Given the description of an element on the screen output the (x, y) to click on. 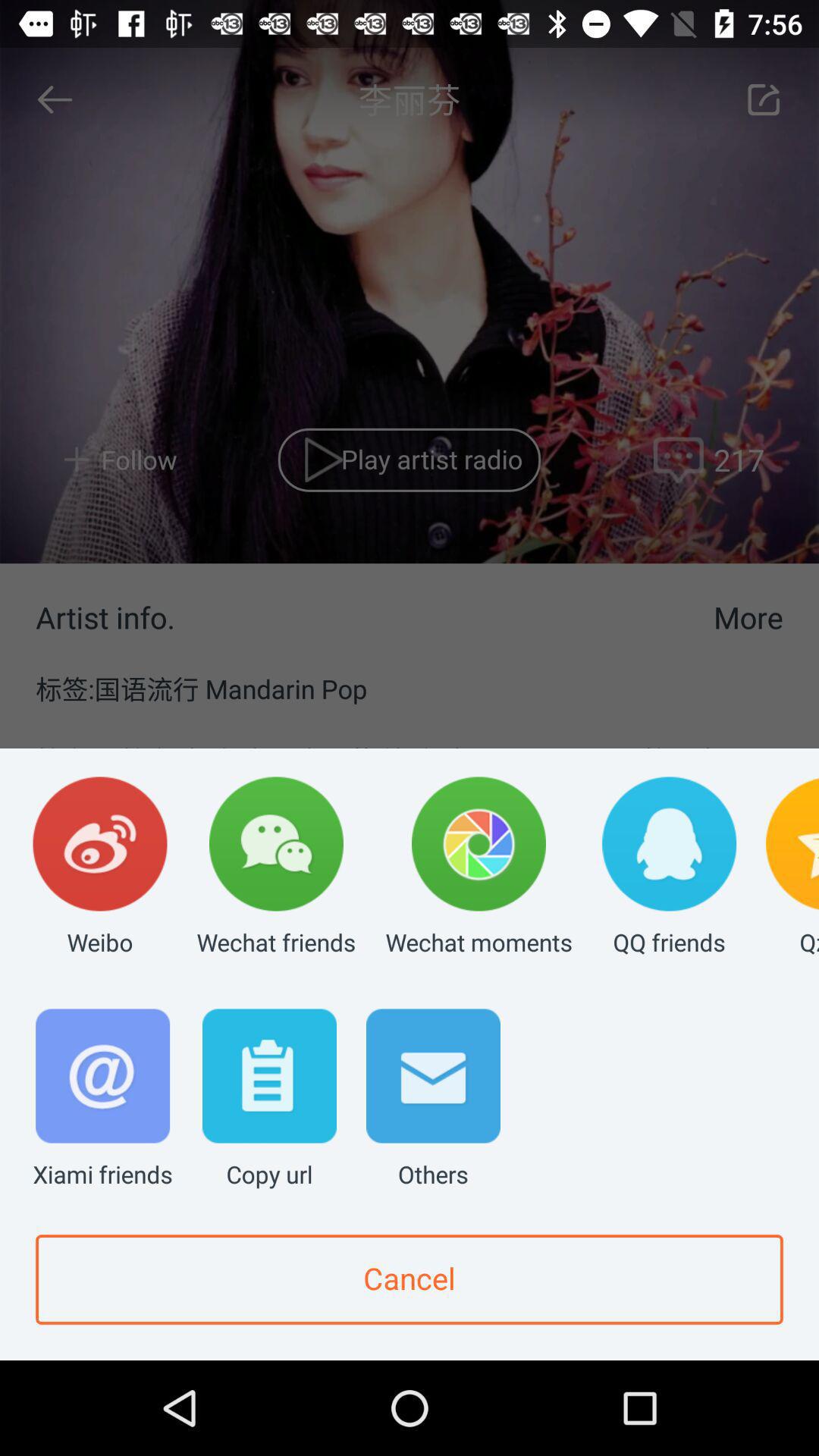
turn on the wechat friends item (276, 867)
